Given the description of an element on the screen output the (x, y) to click on. 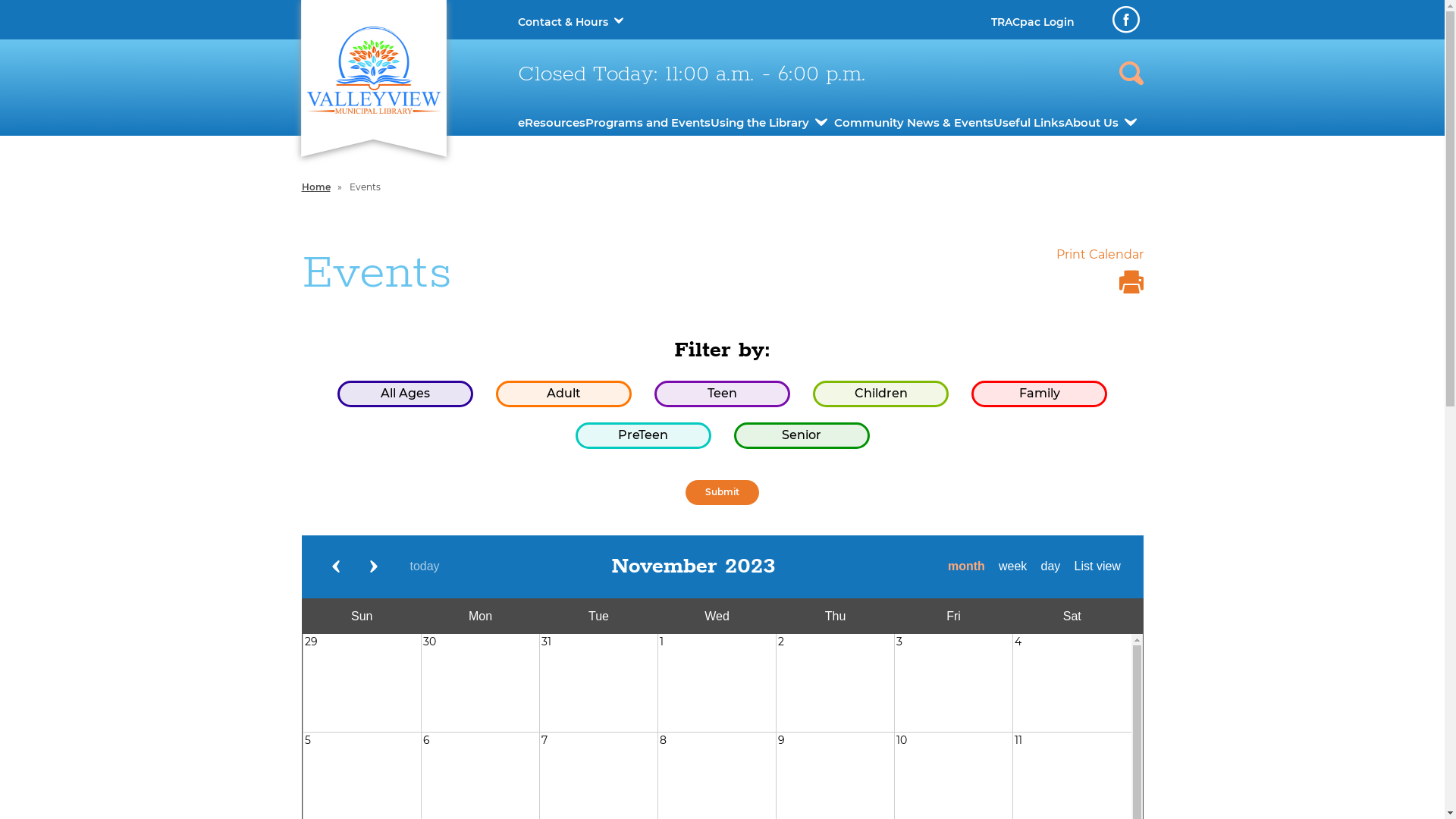
Valleyview Municipal Library Element type: hover (372, 69)
TRACpac Login Element type: text (1031, 21)
PreTeen Element type: text (642, 435)
day Element type: text (1050, 566)
week Element type: text (1012, 566)
Home Element type: text (315, 186)
Facebook Element type: hover (1125, 19)
Senior Element type: text (801, 435)
About Us Element type: text (1091, 122)
today Element type: text (424, 566)
Submit Element type: text (722, 492)
Community News & Events Element type: text (913, 122)
Contact & Hours Element type: text (562, 21)
Using the Library Element type: text (759, 122)
eResources Element type: text (550, 122)
Print Calendar Element type: text (1098, 273)
Family Element type: text (1039, 393)
month Element type: text (965, 566)
List view Element type: text (1097, 566)
Useful Links Element type: text (1028, 122)
Adult Element type: text (563, 393)
Teen Element type: text (722, 393)
Programs and Events Element type: text (647, 122)
Children Element type: text (880, 393)
All Ages Element type: text (405, 393)
